Given the description of an element on the screen output the (x, y) to click on. 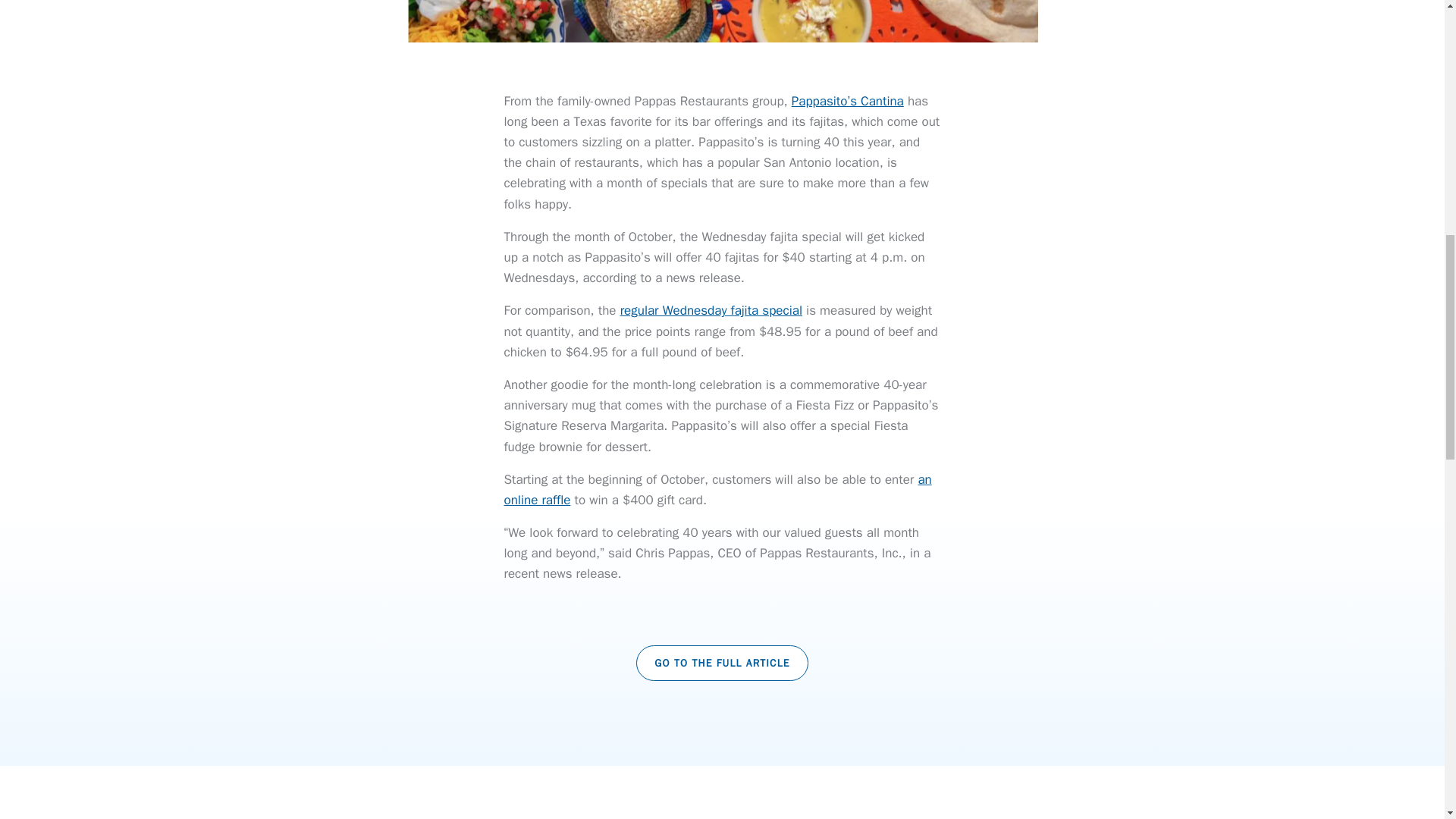
regular Wednesday fajita special (711, 310)
an online raffle (717, 489)
GO TO THE FULL ARTICLE (722, 663)
